Given the description of an element on the screen output the (x, y) to click on. 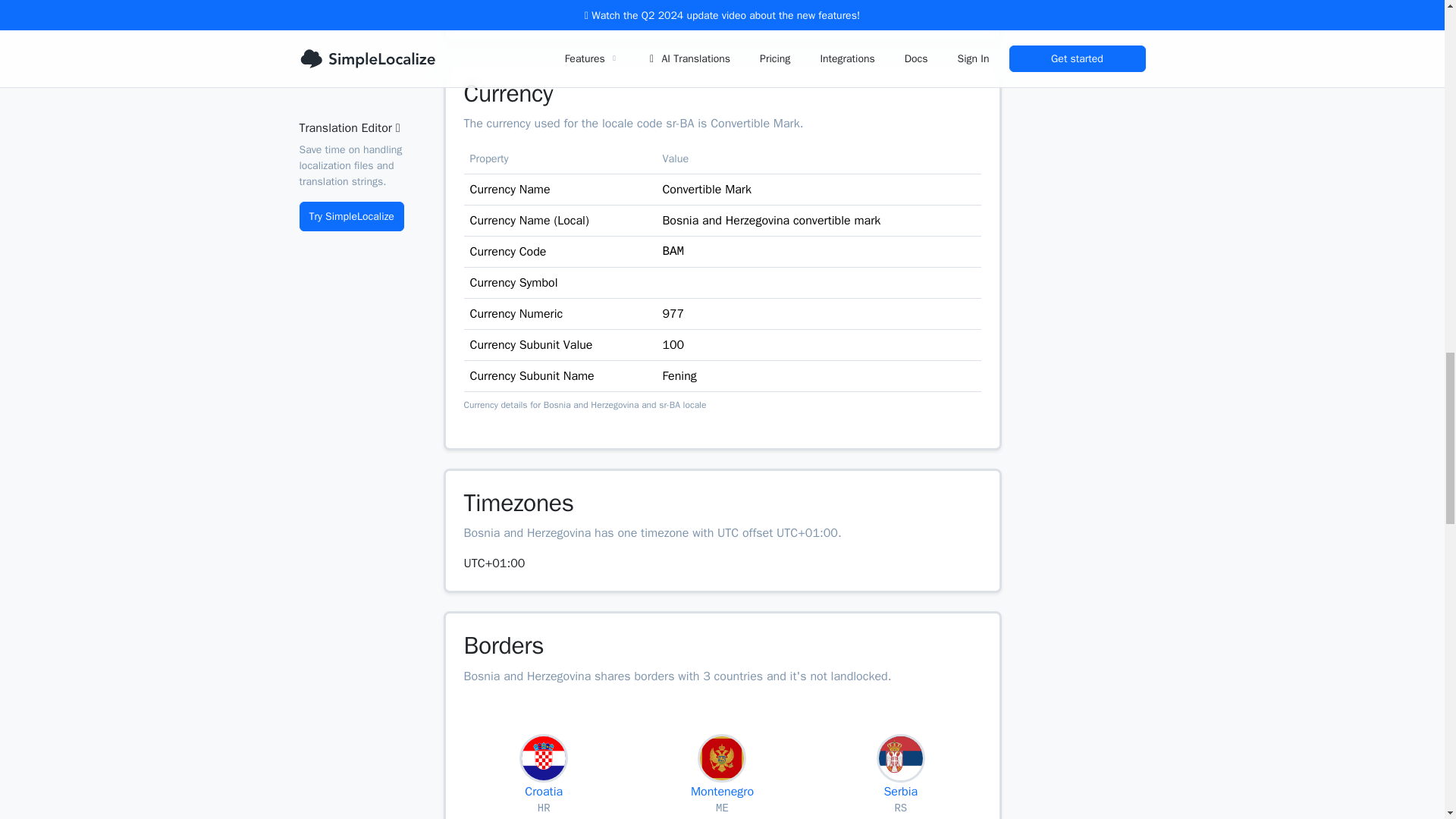
View details of Montenegro (722, 783)
View details of Croatia (544, 783)
View details of Serbia (544, 783)
